Given the description of an element on the screen output the (x, y) to click on. 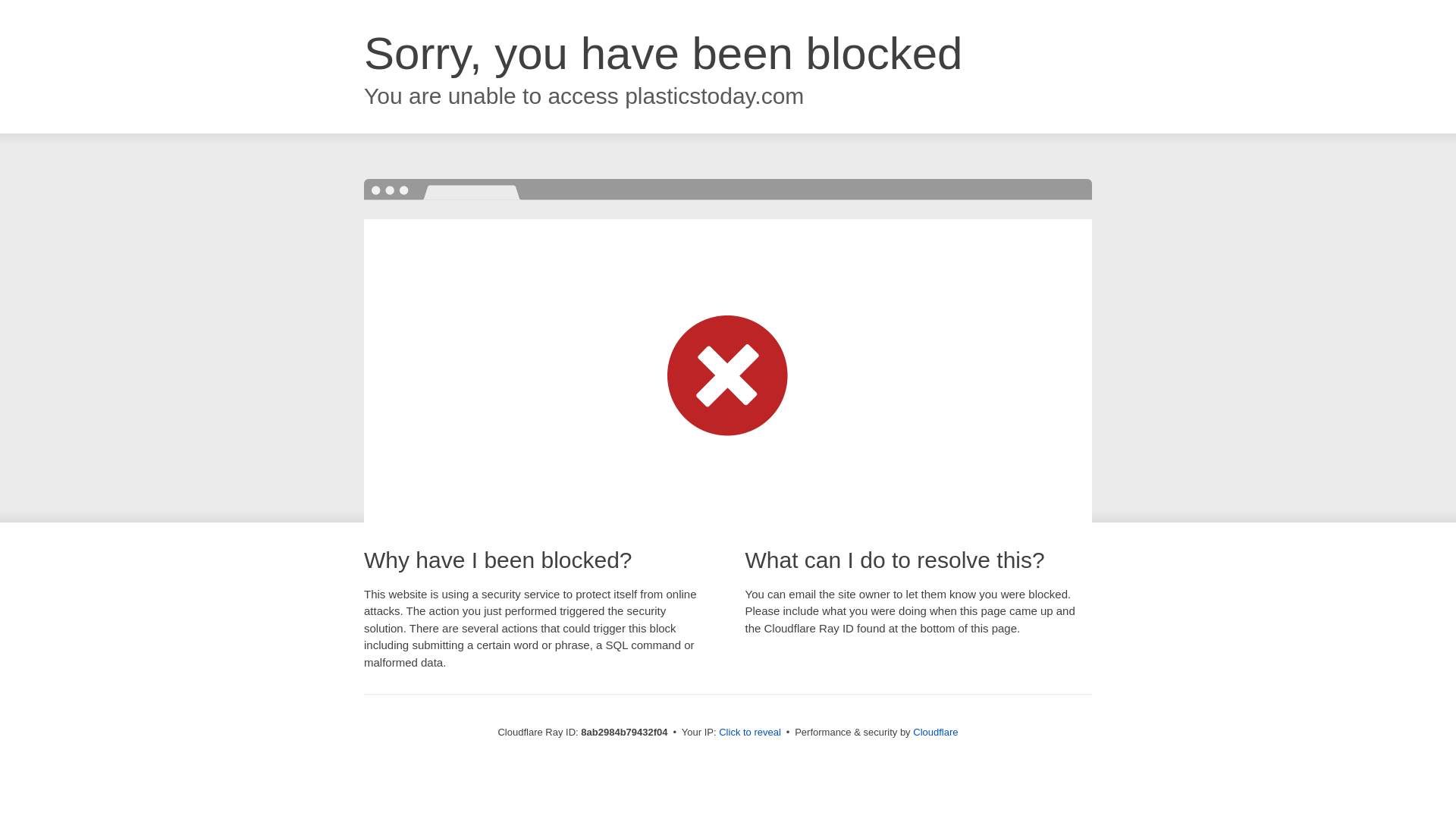
Click to reveal (749, 732)
Cloudflare (935, 731)
